Given the description of an element on the screen output the (x, y) to click on. 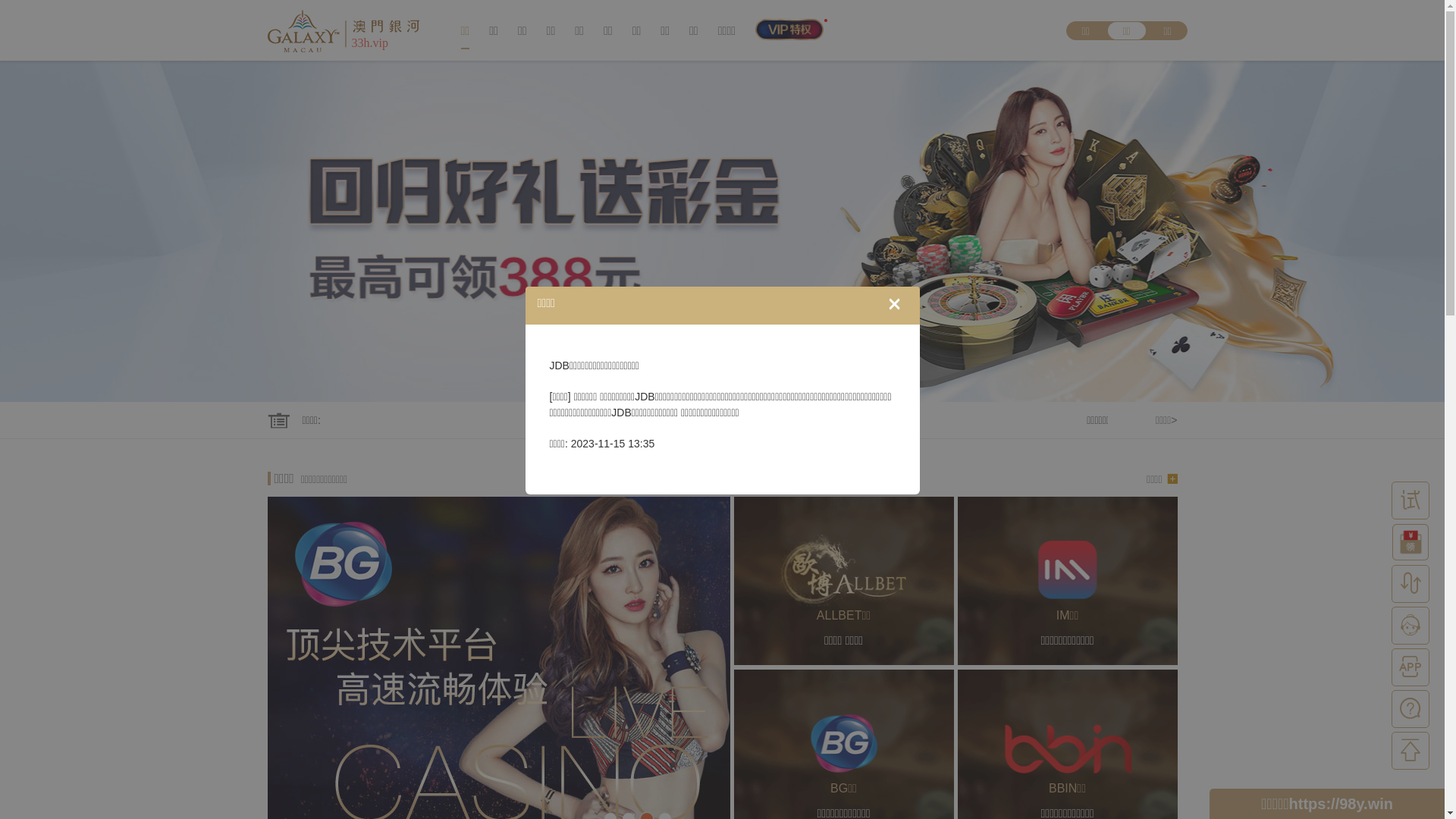
33h.vip Element type: text (342, 30)
